Given the description of an element on the screen output the (x, y) to click on. 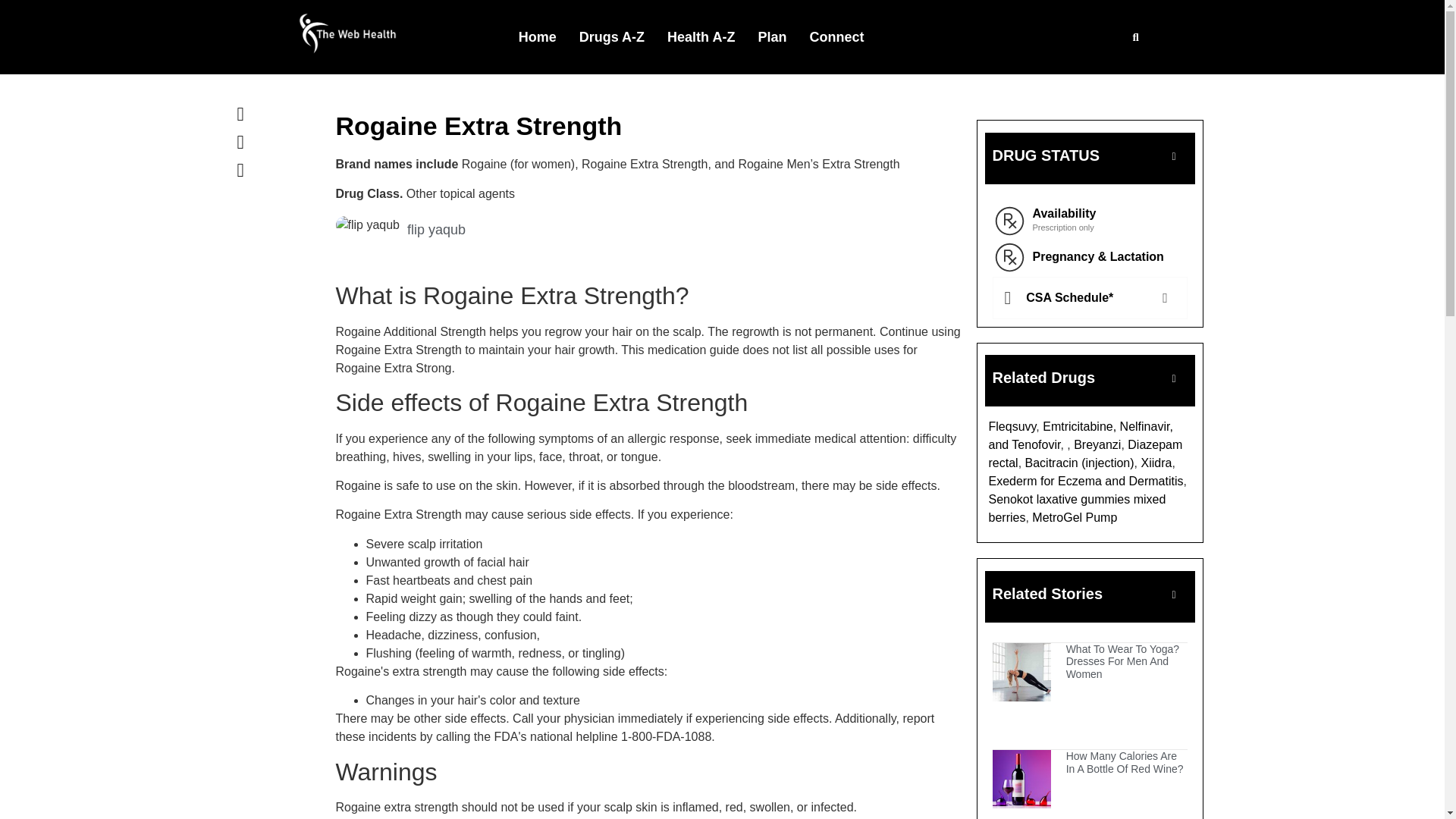
MetroGel Pump (1074, 517)
Breyanzi (1097, 444)
Emtricitabine, Nelfinavir, and Tenofovir (1080, 435)
What To Wear To Yoga? Dresses For Men And Women (1122, 661)
Fleqsuvy (1012, 426)
Drugs A-Z (611, 36)
Exederm for Eczema and Dermatitis (1085, 481)
Health A-Z (700, 36)
How Many Calories Are In A Bottle Of Red Wine? (1124, 762)
Xiidra (1156, 462)
Connect (836, 36)
Plan (771, 36)
Senokot laxative gummies mixed berries (1077, 508)
Diazepam rectal (1085, 453)
Home (536, 36)
